Given the description of an element on the screen output the (x, y) to click on. 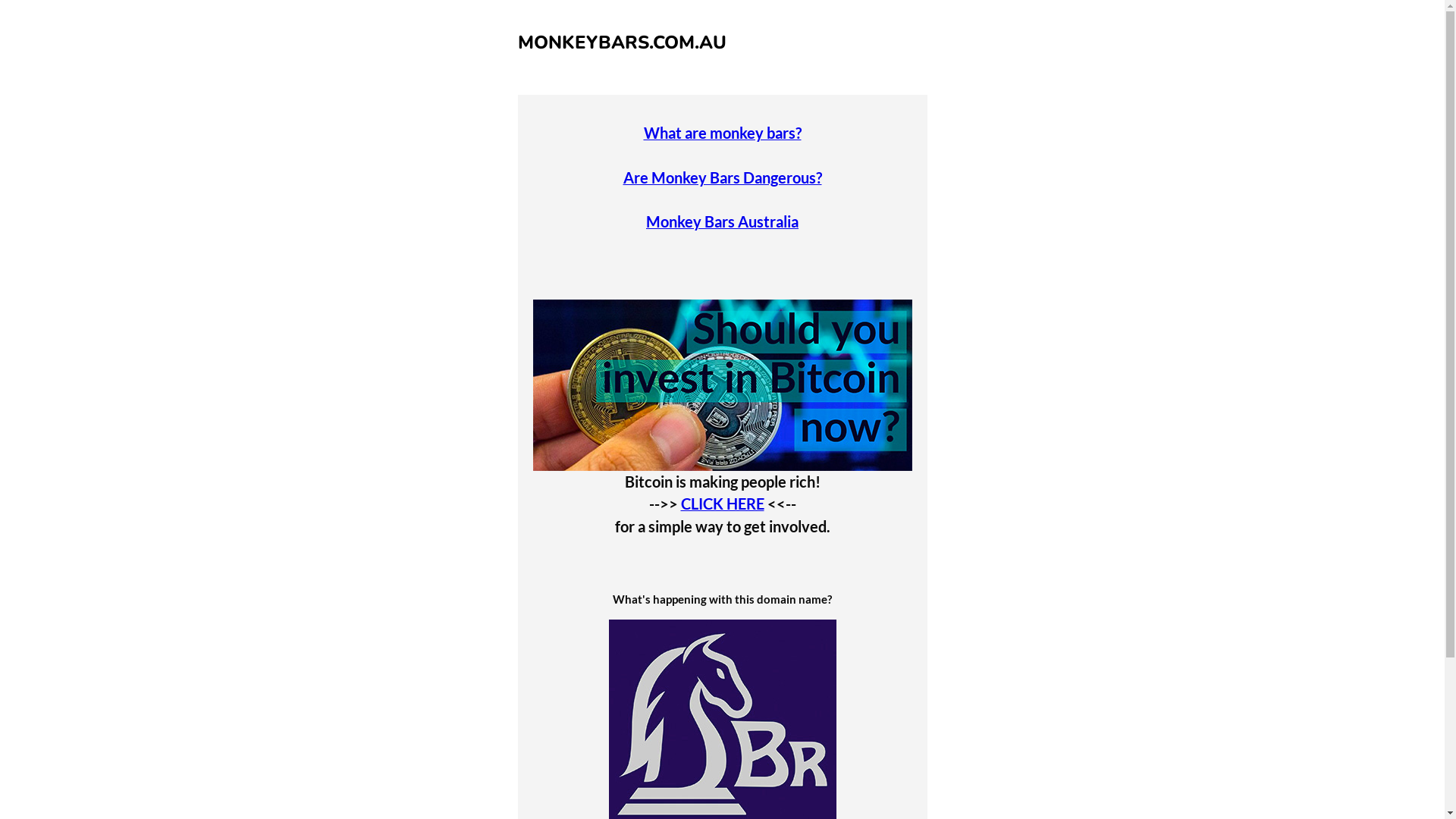
CLICK HERE Element type: text (722, 503)
What are monkey bars? Element type: text (721, 132)
Monkey Bars Australia Element type: text (722, 221)
MONKEYBARS.COM.AU Element type: text (621, 42)
Are Monkey Bars Dangerous? Element type: text (722, 177)
